Given the description of an element on the screen output the (x, y) to click on. 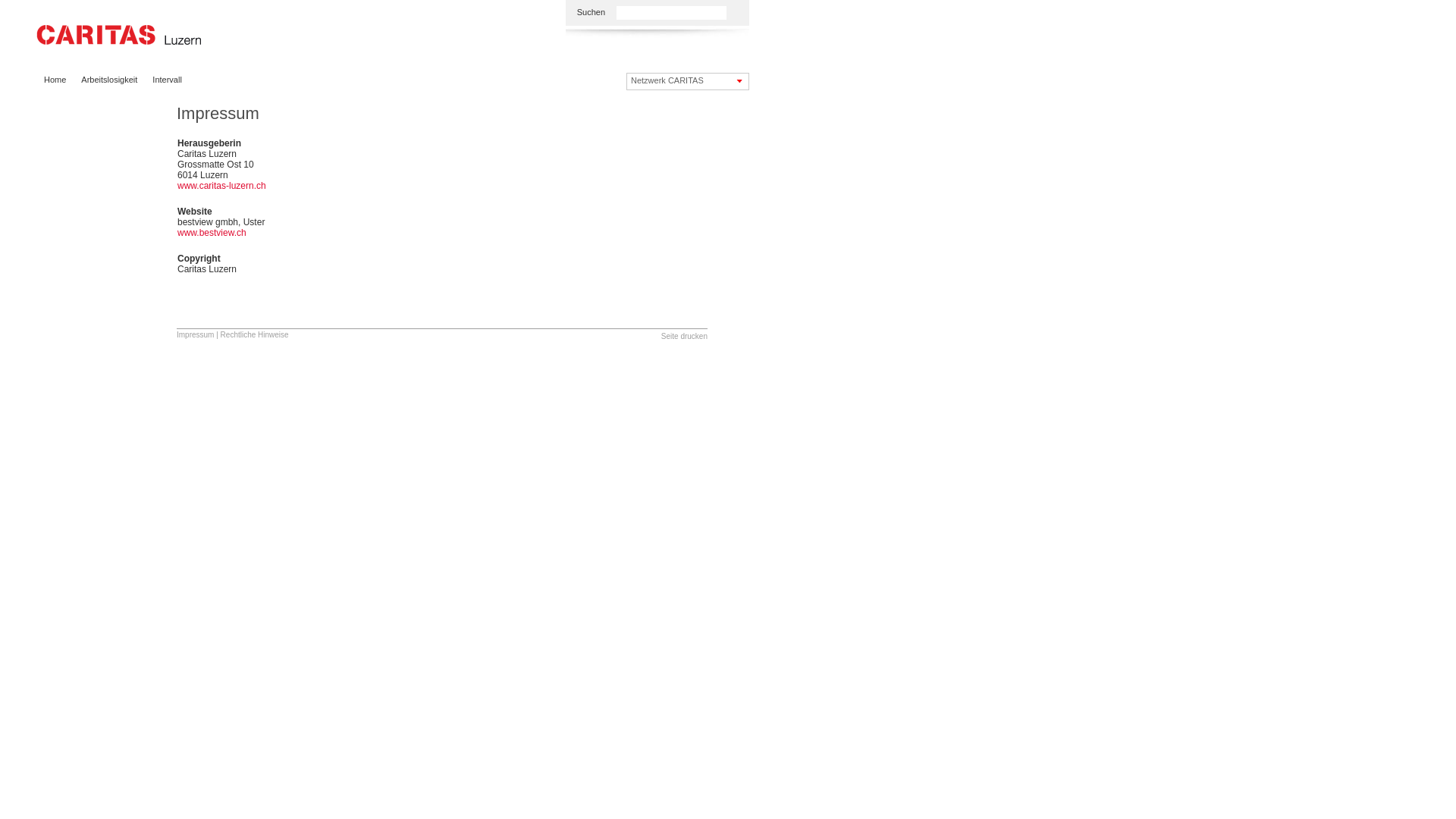
Arbeitslosigkeit Element type: text (108, 79)
www.bestview.ch Element type: text (211, 232)
Impressum Element type: text (194, 334)
Caritas Arbeit Luzern Element type: hover (118, 35)
Intervall Element type: text (166, 79)
Rechtliche Hinweise Element type: text (254, 334)
Home Element type: text (54, 79)
www.caritas-luzern.ch Element type: text (221, 185)
Seite drucken Element type: text (684, 336)
